Given the description of an element on the screen output the (x, y) to click on. 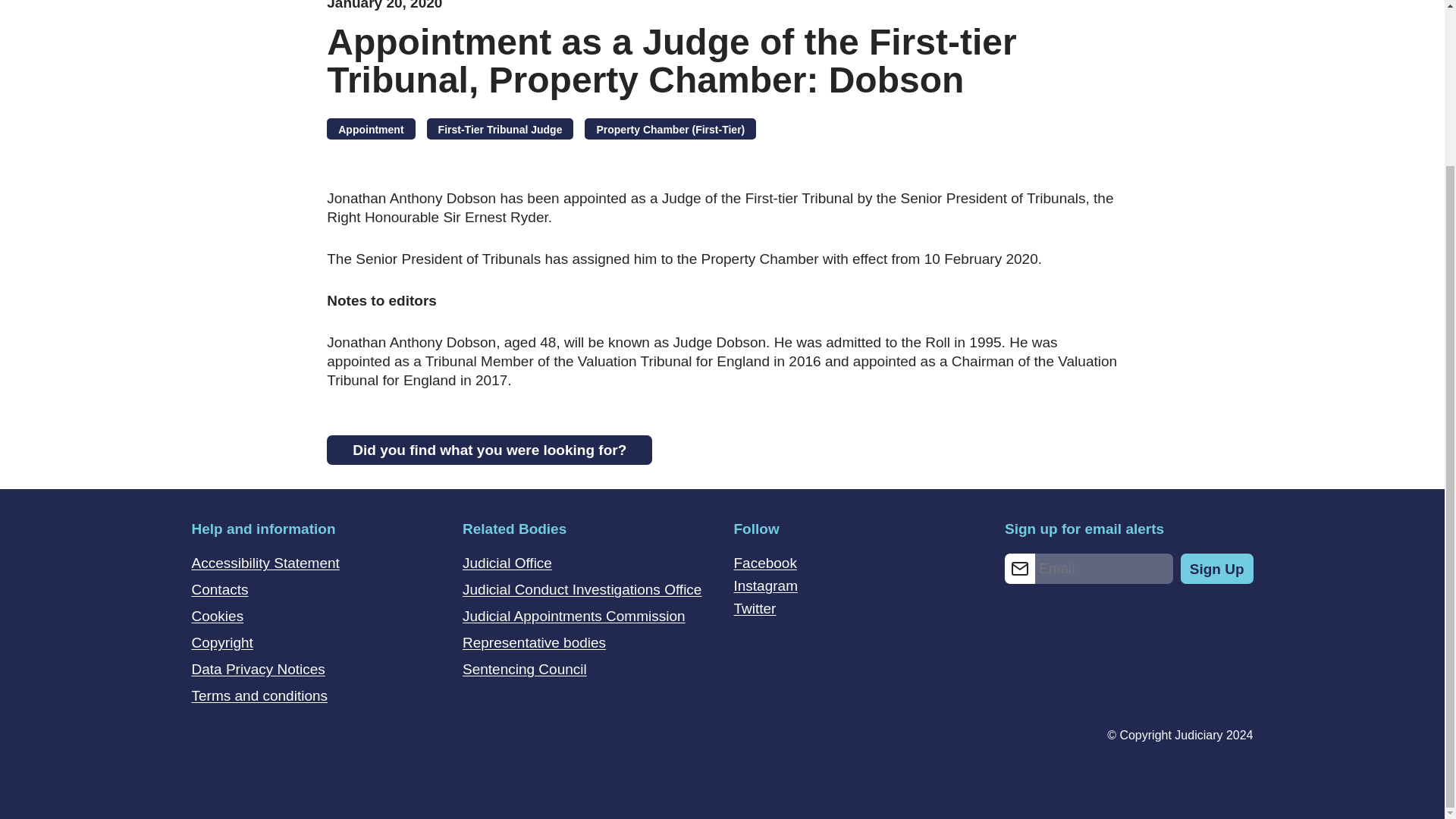
Sign Up (1216, 568)
